Given the description of an element on the screen output the (x, y) to click on. 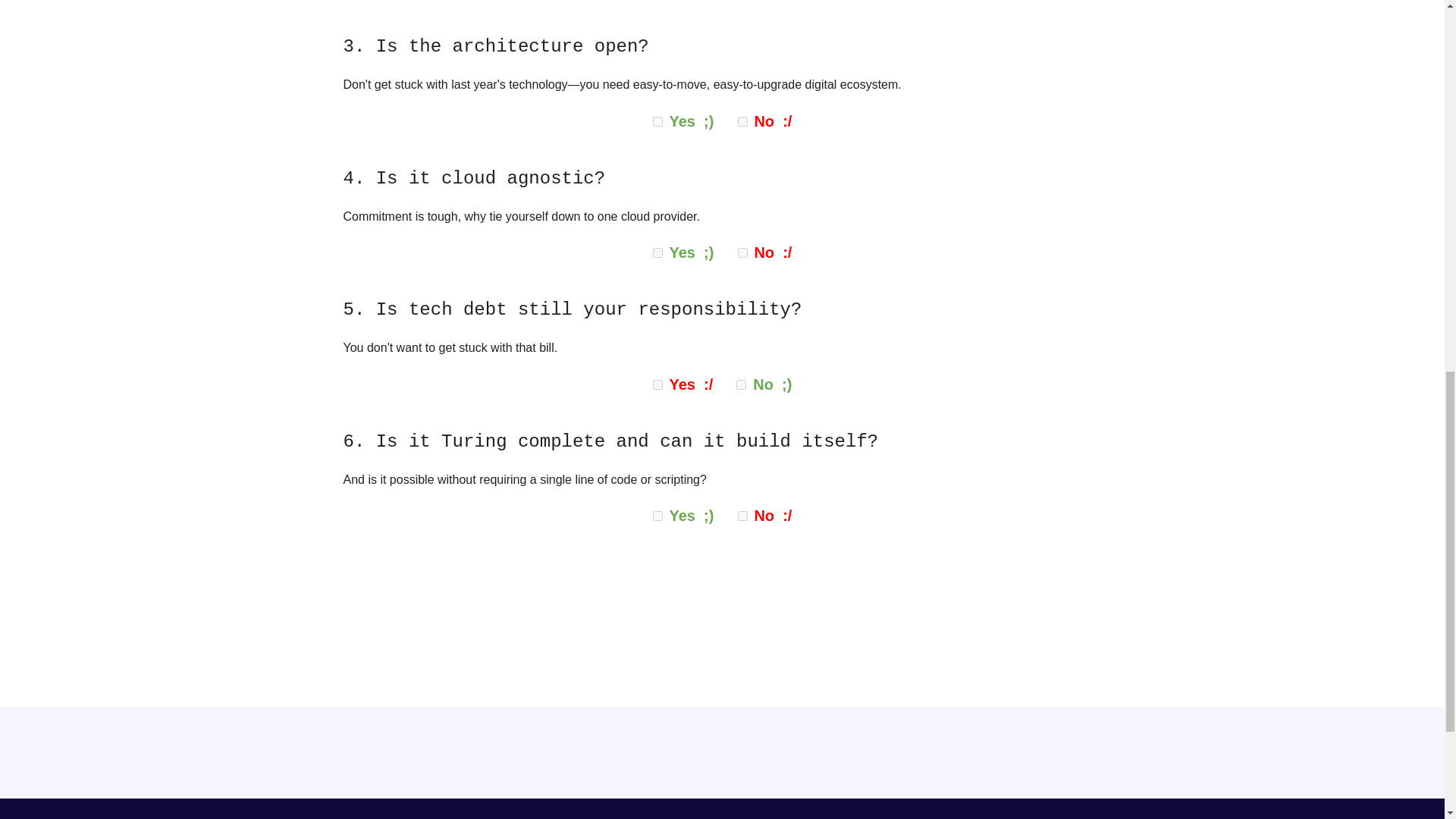
no (740, 384)
Yes (657, 121)
Yes (657, 384)
no (743, 515)
no (743, 121)
no (743, 252)
Yes (657, 515)
Yes (657, 252)
